Given the description of an element on the screen output the (x, y) to click on. 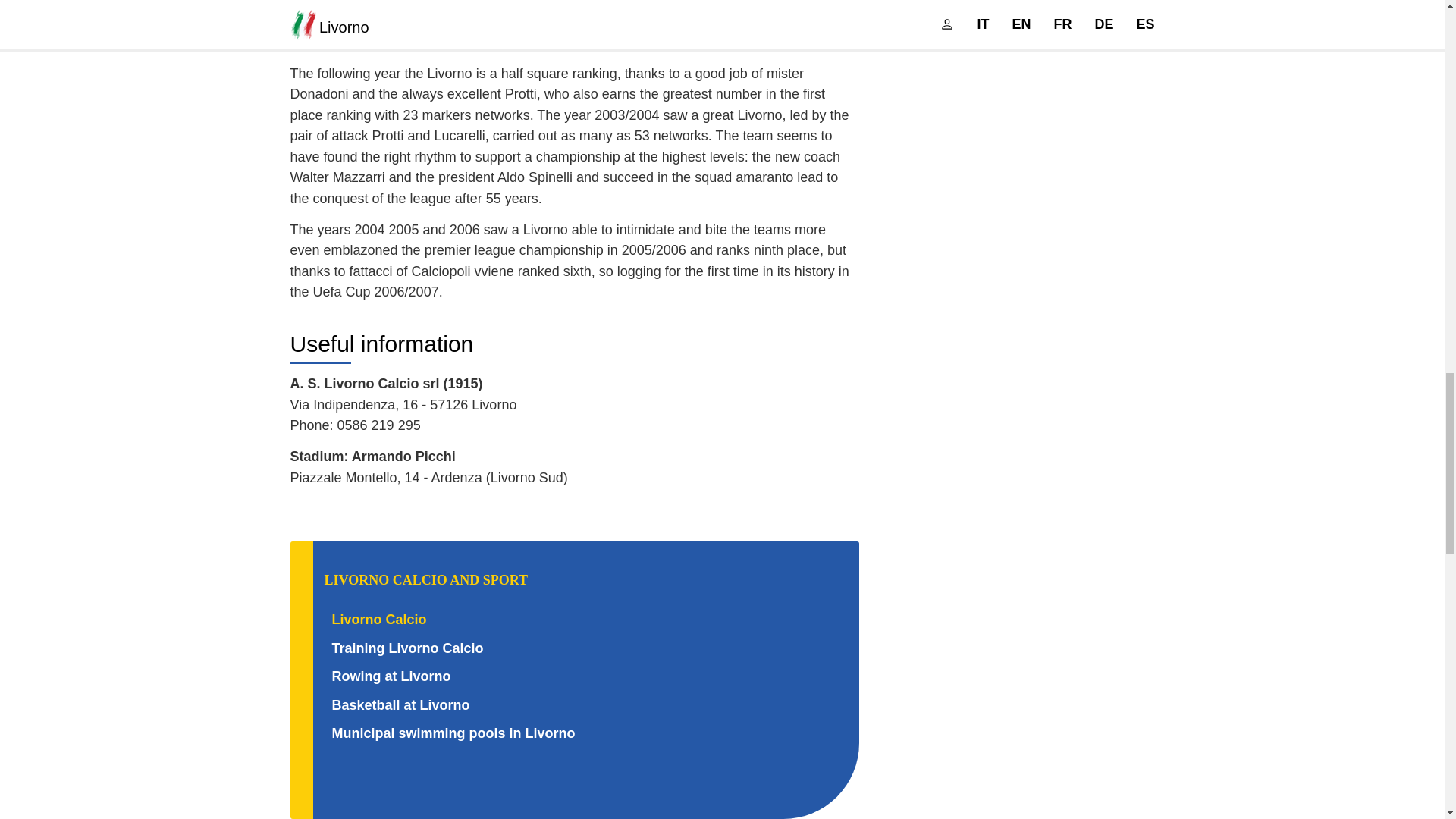
Rowing at Livorno (391, 676)
Municipal swimming pools in Livorno (453, 733)
Basketball at Livorno (400, 704)
Training Livorno Calcio (407, 648)
Livorno Calcio (378, 619)
